Given the description of an element on the screen output the (x, y) to click on. 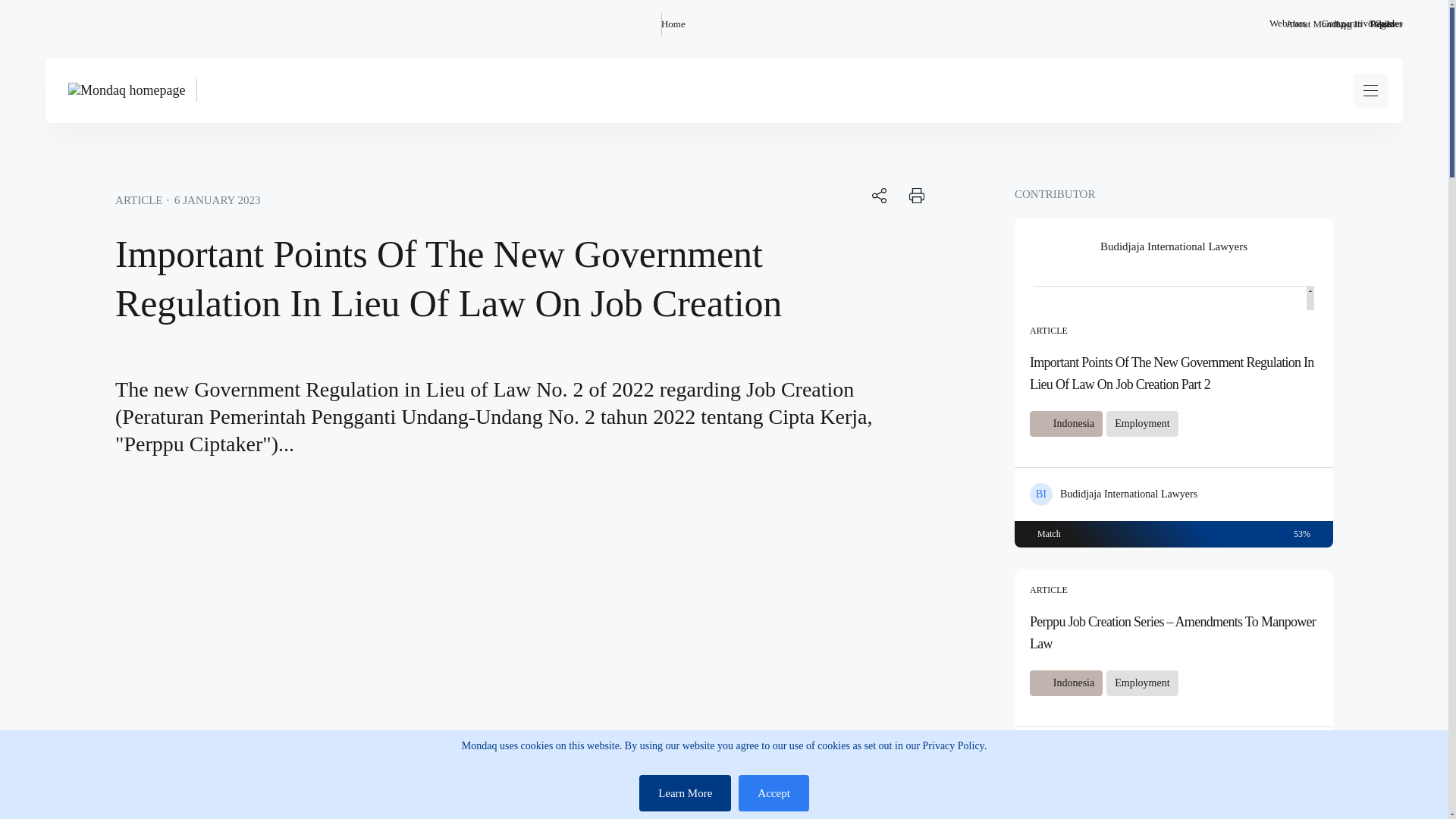
Home (673, 24)
Comparative Guides (1362, 23)
Webinars (1287, 23)
About Mondaq (1315, 24)
